Given the description of an element on the screen output the (x, y) to click on. 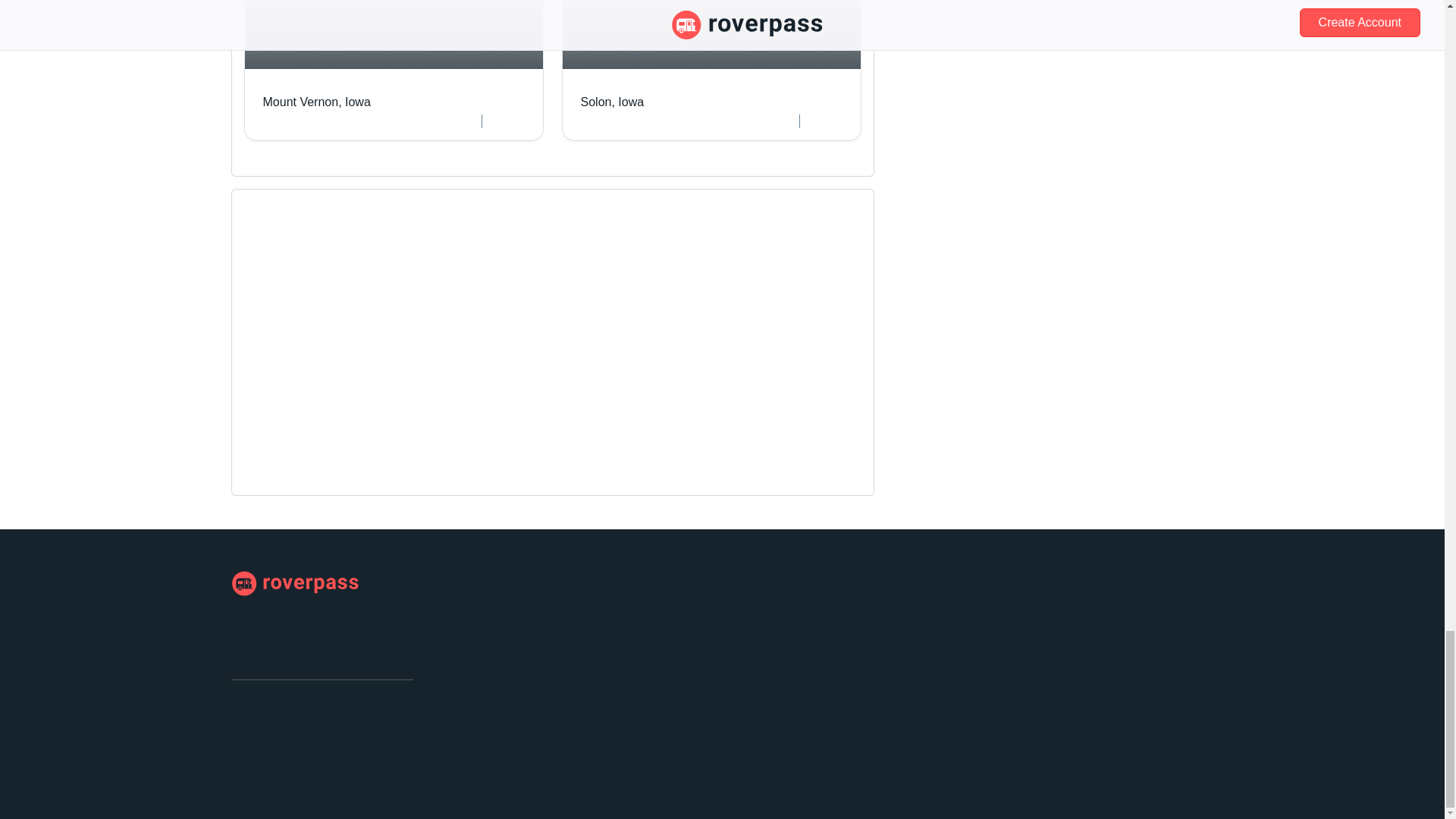
RoverPass (294, 583)
Twitter (267, 711)
Facebook (242, 711)
